Given the description of an element on the screen output the (x, y) to click on. 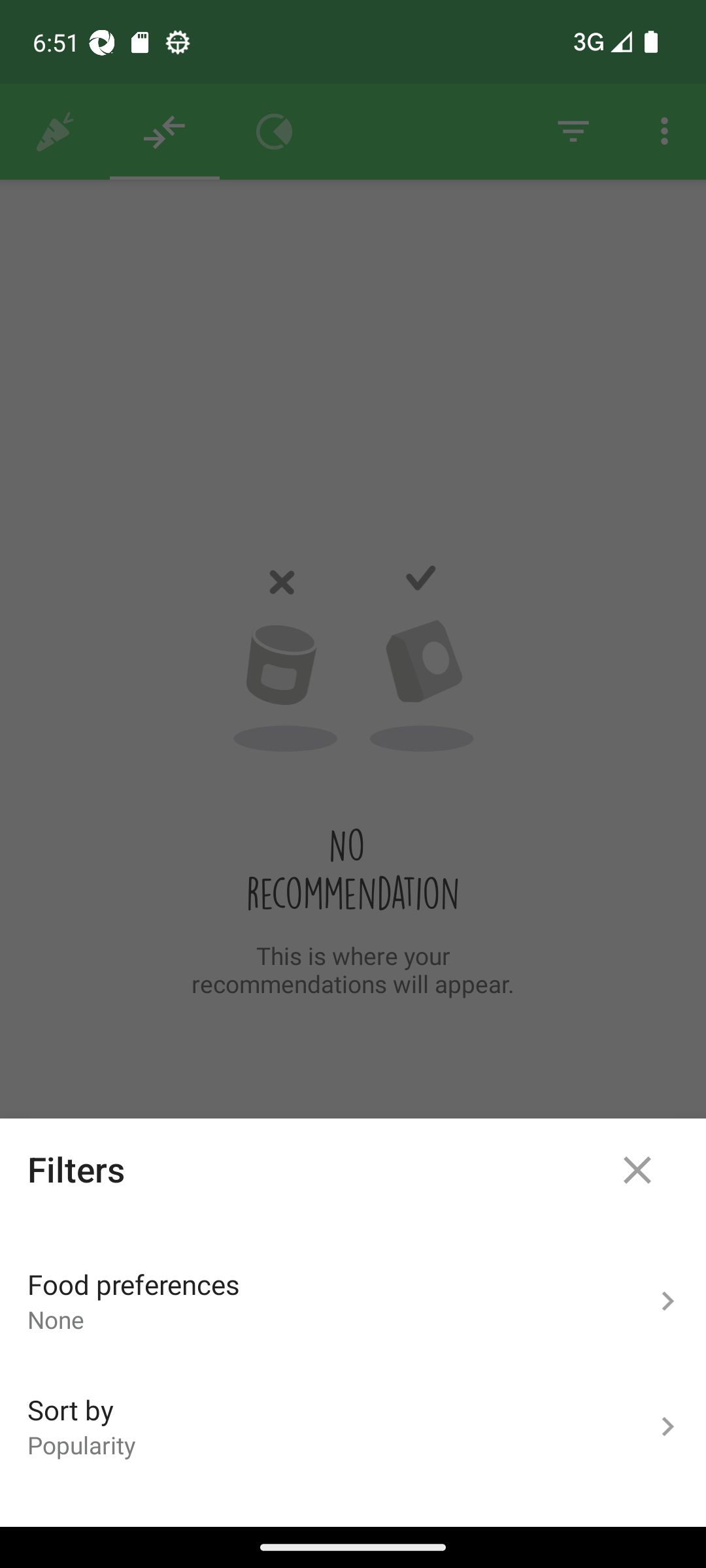
Food preferences None (353, 1301)
Sort by Popularity (353, 1426)
